Given the description of an element on the screen output the (x, y) to click on. 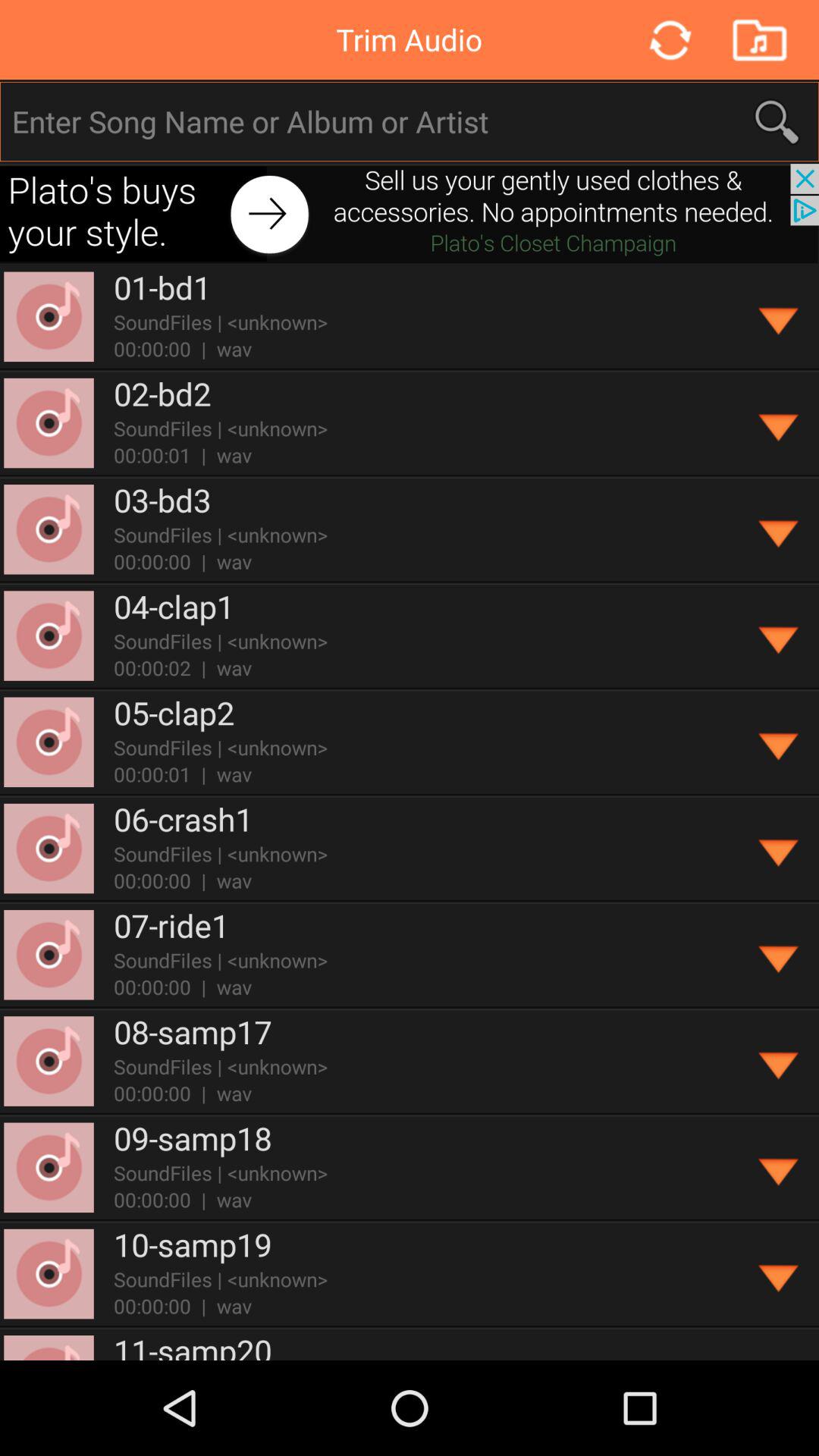
show file information (779, 1273)
